Given the description of an element on the screen output the (x, y) to click on. 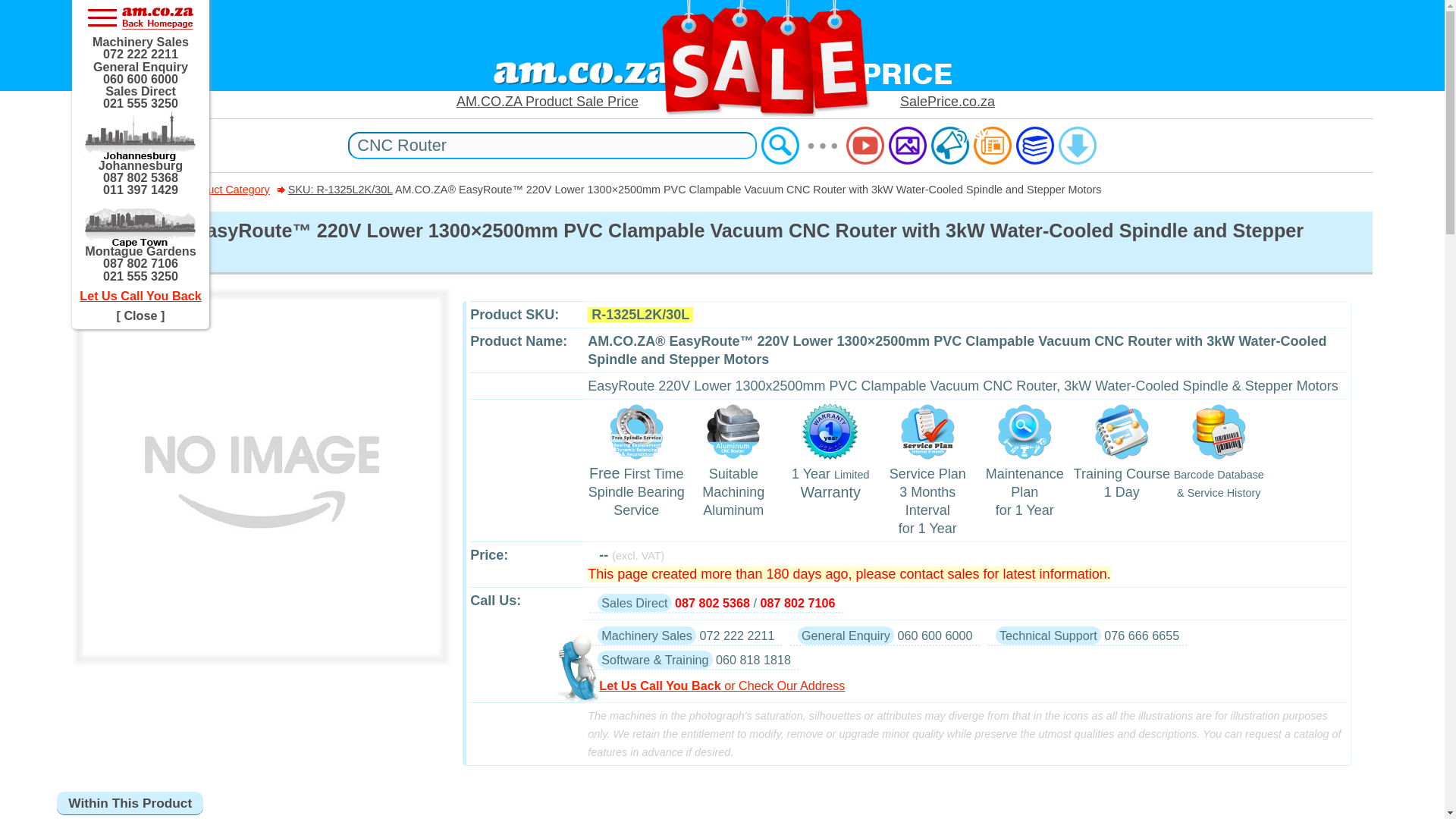
AM.CO.ZA Sites Navigation (139, 17)
Download Utility Disk for Softwares, Drivers and Manuals (1077, 145)
Search (780, 145)
Software Training Videos (1035, 145)
AM.CO.ZA (140, 189)
Let Us Call You Back (140, 295)
Our Email Newsletter Archives (992, 145)
Our Photo Gallery (907, 145)
Let Us Call You Back or Check Our Address (970, 685)
Our Youtube Channel (864, 145)
Product Category (226, 189)
CNC Router (551, 144)
Our News Updates (950, 145)
